Given the description of an element on the screen output the (x, y) to click on. 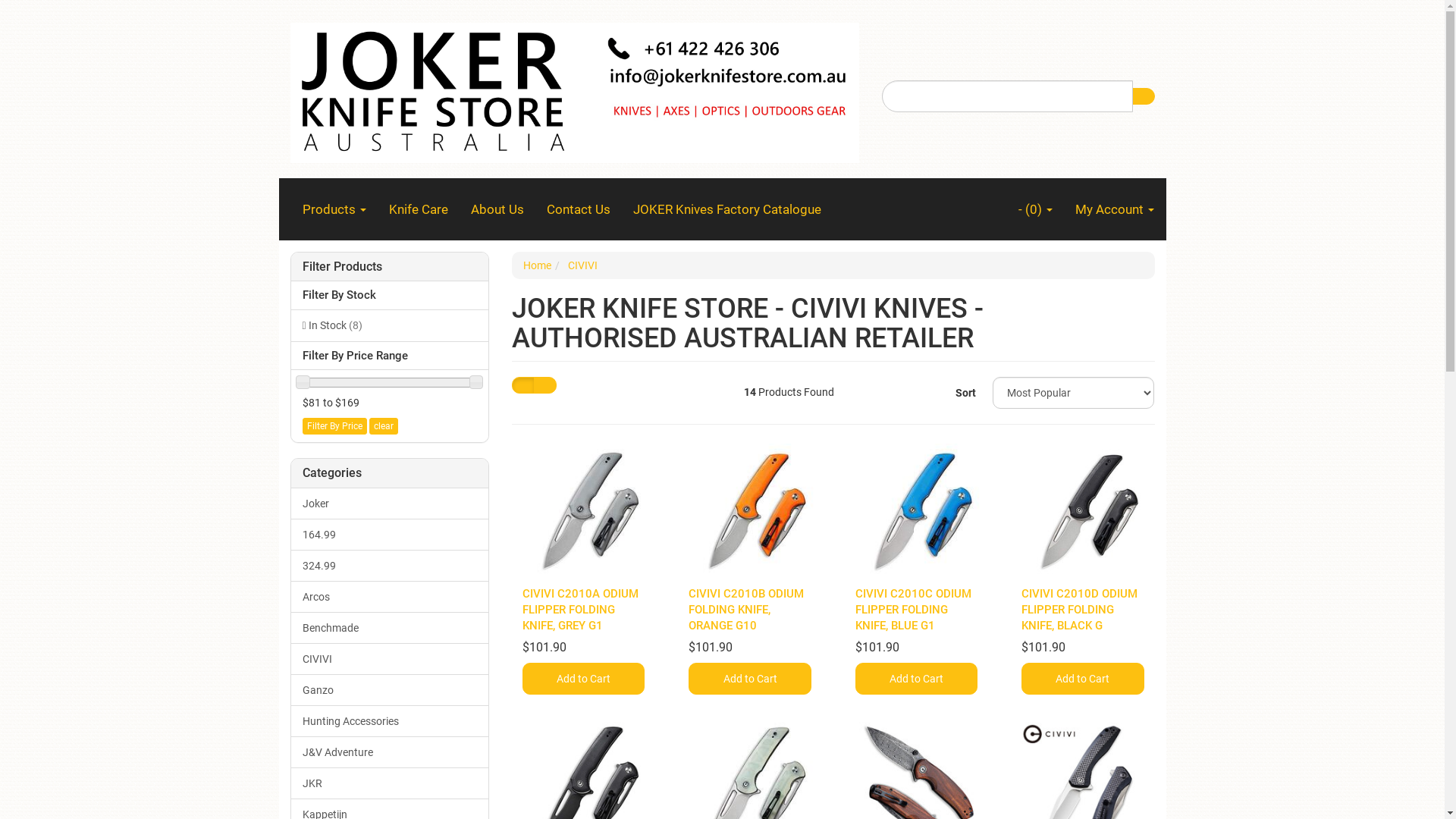
Benchmade Element type: text (390, 627)
Add to Cart Element type: text (1082, 678)
Joker Knife Store Element type: hover (573, 87)
CIVIVI C2010B ODIUM FOLDING KNIFE, ORANGE G10 Element type: text (745, 609)
Arcos Element type: text (390, 596)
Filter By Price Element type: text (333, 425)
Add to Cart Element type: text (916, 678)
Hunting Accessories Element type: text (390, 721)
Home Element type: text (537, 265)
324.99 Element type: text (390, 564)
CIVIVI Element type: text (582, 265)
CIVIVI C2010C ODIUM FLIPPER FOLDING KNIFE, BLUE G1 Element type: text (913, 609)
164.99 Element type: text (390, 533)
clear Element type: text (382, 425)
In Stock (8) Element type: text (390, 325)
Add to Cart Element type: text (749, 678)
Joker Element type: text (390, 503)
J&V Adventure Element type: text (390, 752)
CIVIVI C2010A ODIUM FLIPPER FOLDING KNIFE, GREY G1 Element type: text (580, 609)
About Us Element type: text (497, 208)
Products Element type: text (334, 208)
- (0) Element type: text (1035, 208)
JOKER Knives Factory Catalogue Element type: text (726, 208)
Ganzo Element type: text (390, 690)
My Account Element type: text (1113, 208)
JKR Element type: text (390, 783)
Search Element type: text (1142, 95)
Filter Products Element type: text (388, 266)
CIVIVI C2010D ODIUM FLIPPER FOLDING KNIFE, BLACK G Element type: text (1079, 609)
CIVIVI Element type: text (390, 658)
Contact Us Element type: text (578, 208)
Add to Cart Element type: text (583, 678)
Knife Care Element type: text (418, 208)
